Given the description of an element on the screen output the (x, y) to click on. 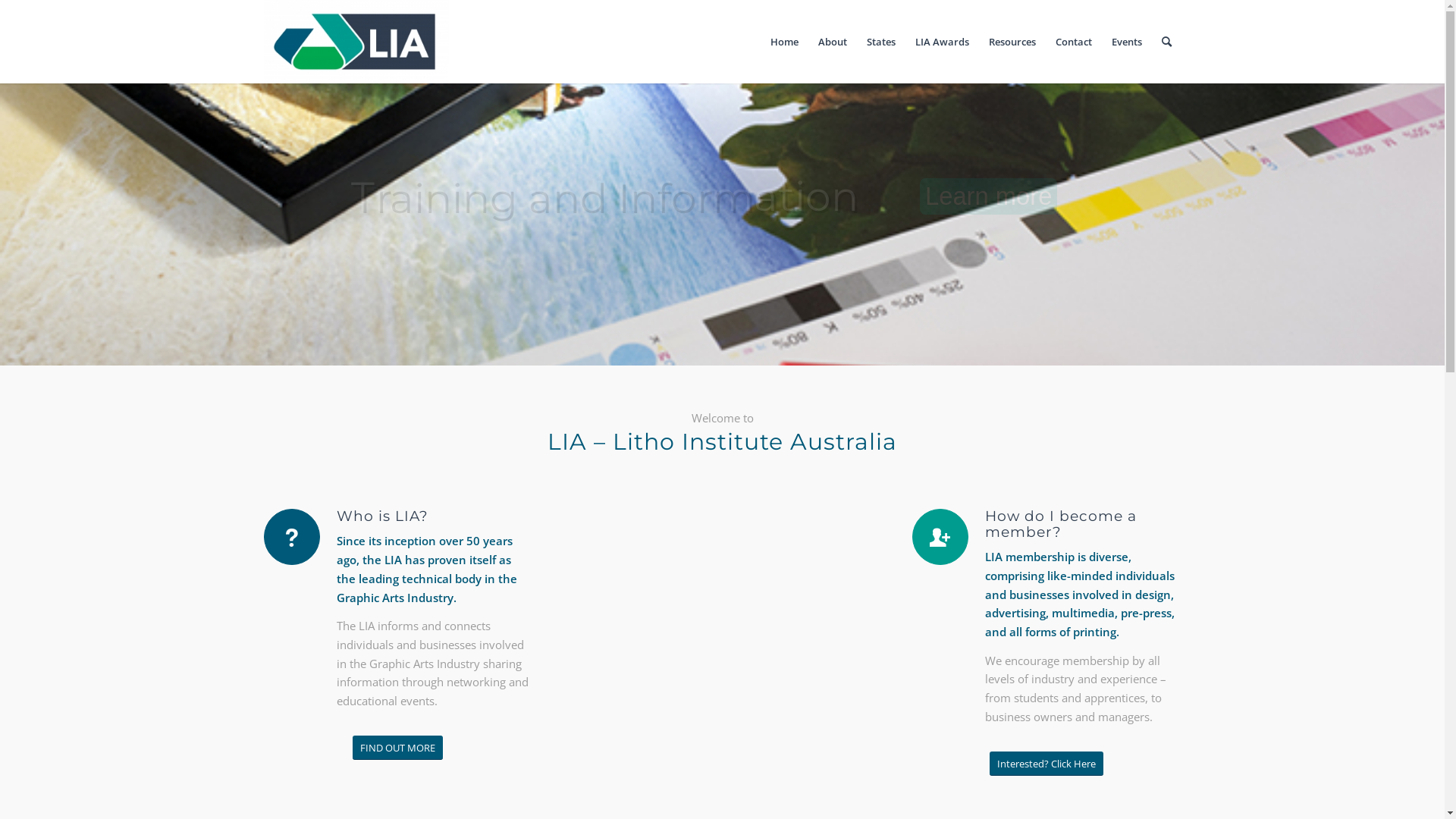
How do I become a member? Element type: text (1060, 523)
Who is LIA? Element type: text (382, 515)
Interested? Click Here Element type: text (1046, 762)
LIA Awards Element type: text (942, 41)
Contact Element type: text (1072, 41)
Home Element type: text (783, 41)
FIND OUT MORE Element type: text (397, 747)
About Element type: text (832, 41)
Resources Element type: text (1011, 41)
How do I become a member? Element type: hover (940, 536)
Events Element type: text (1126, 41)
States Element type: text (880, 41)
Who is LIA? Element type: hover (291, 536)
